Given the description of an element on the screen output the (x, y) to click on. 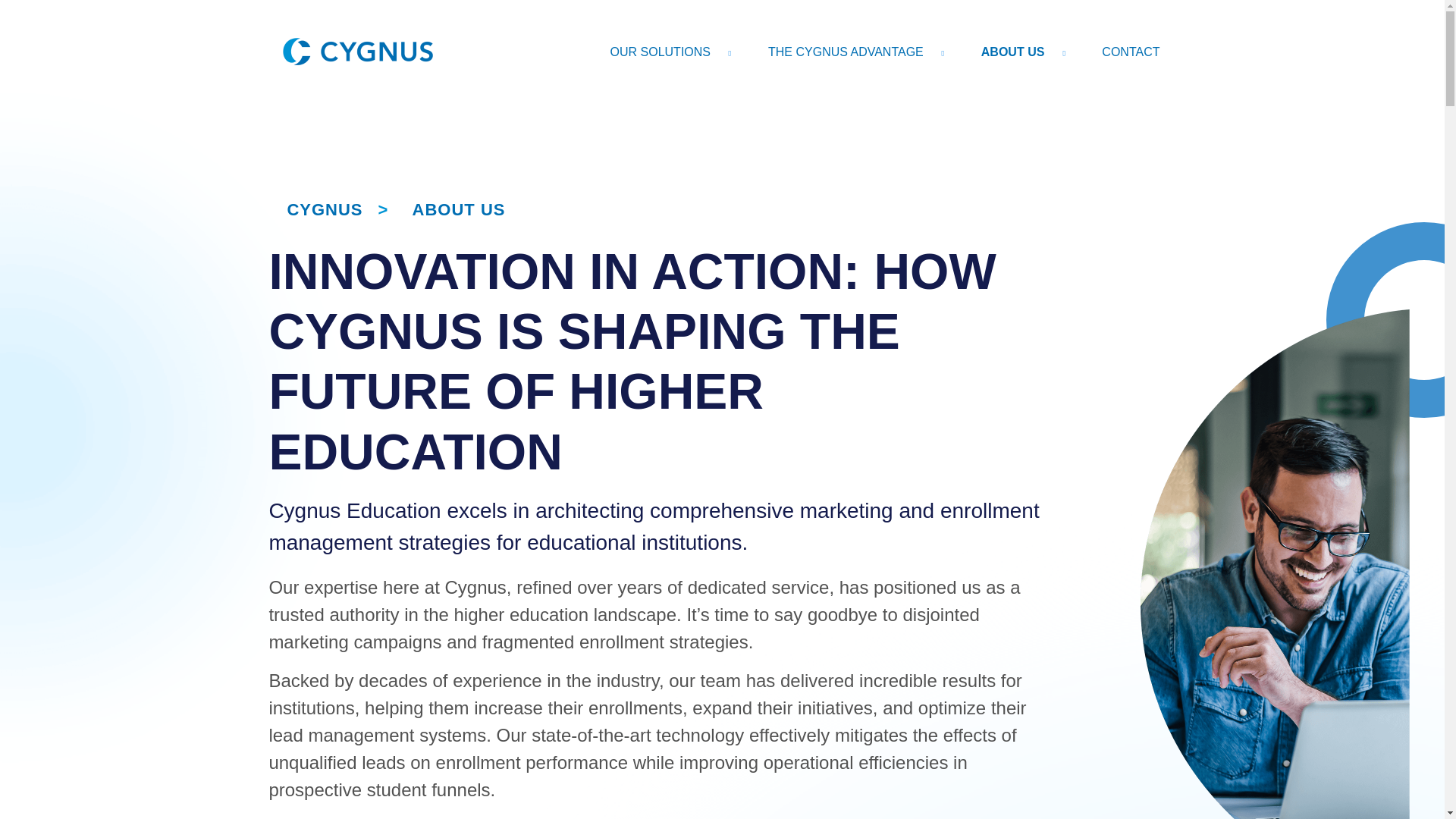
OUR SOLUTIONS (669, 50)
ABOUT US (1022, 50)
CONTACT (1130, 50)
THE CYGNUS ADVANTAGE (856, 50)
CYGNUS (320, 209)
Go to Cygnus. (320, 209)
